Given the description of an element on the screen output the (x, y) to click on. 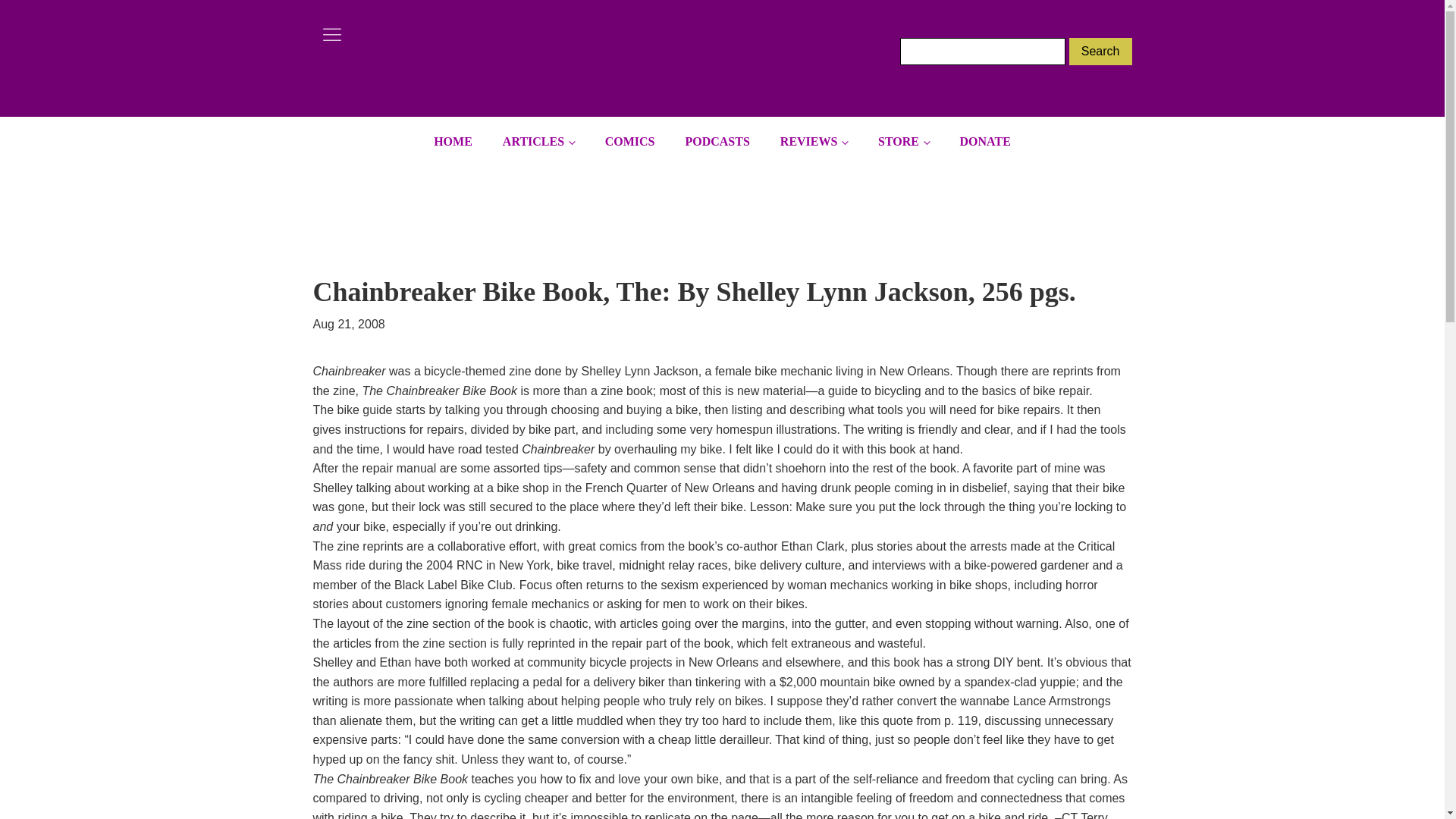
ARTICLES (538, 142)
Search (1100, 51)
PODCASTS (716, 142)
Search (1100, 51)
HOME (453, 142)
COMICS (629, 142)
